Given the description of an element on the screen output the (x, y) to click on. 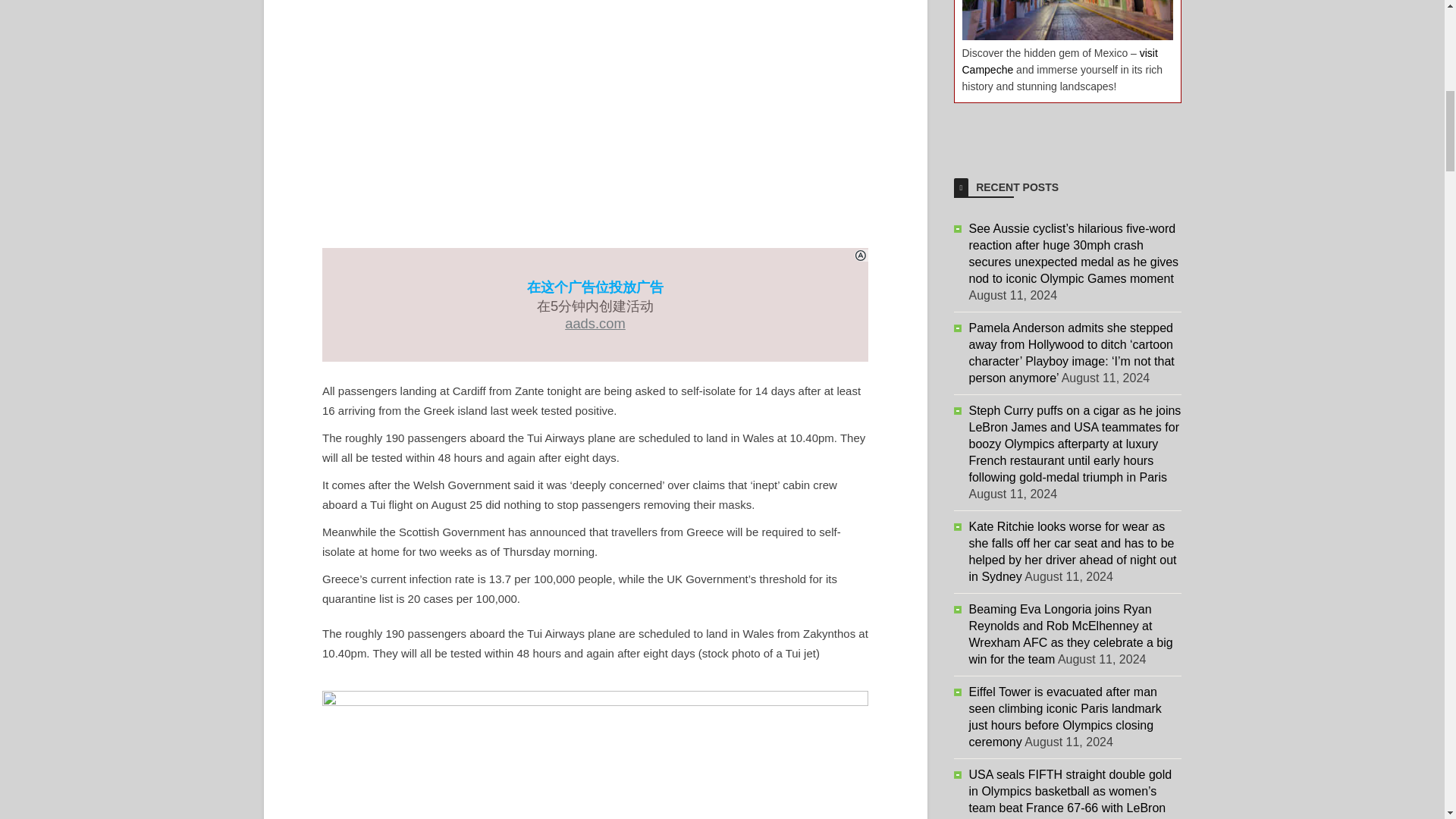
visit Campeche (1058, 61)
